Given the description of an element on the screen output the (x, y) to click on. 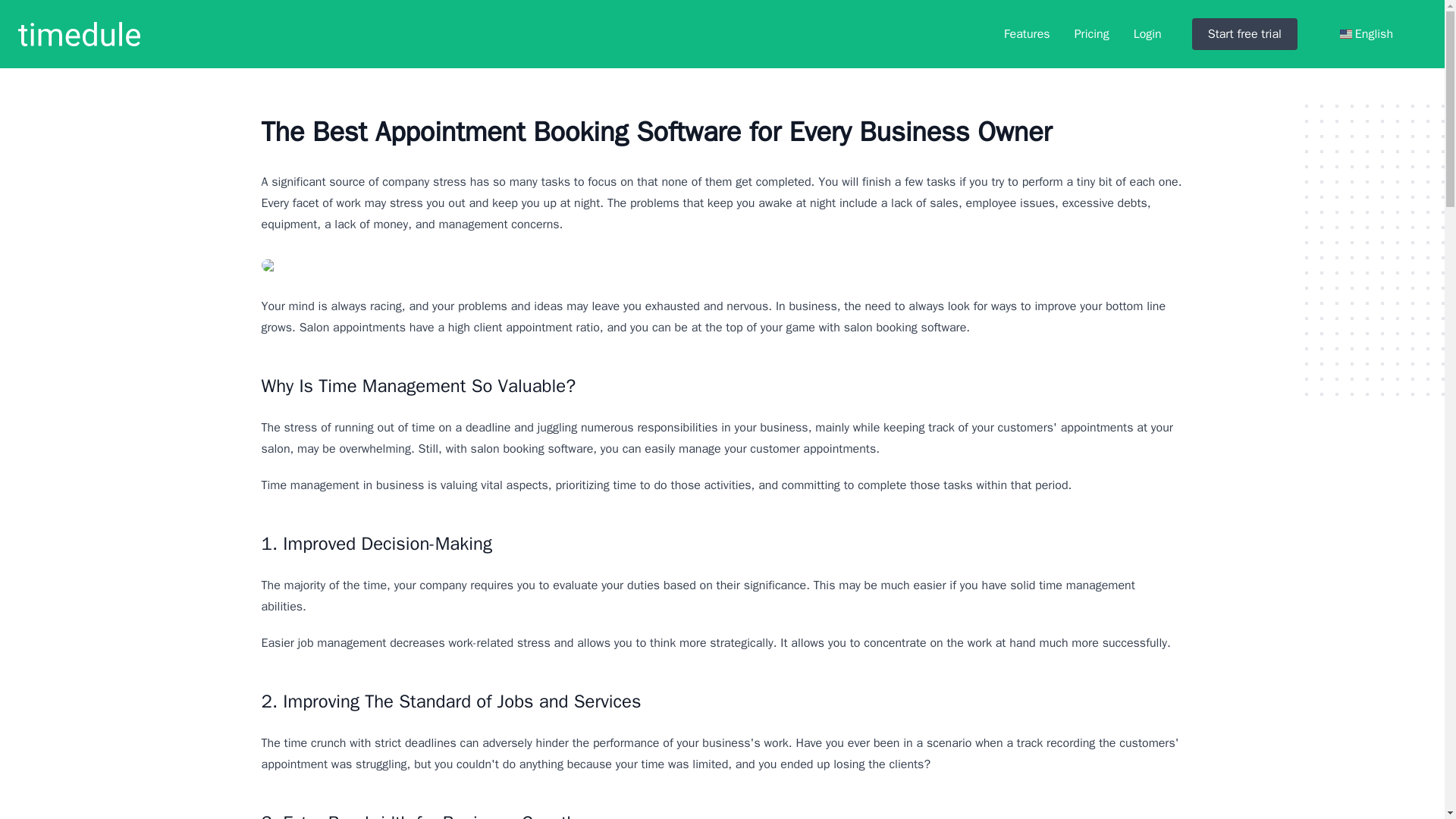
timedule (78, 33)
English (1366, 34)
Login (1147, 34)
Pricing (1091, 34)
Start free trial (1244, 33)
Features (1026, 34)
